Given the description of an element on the screen output the (x, y) to click on. 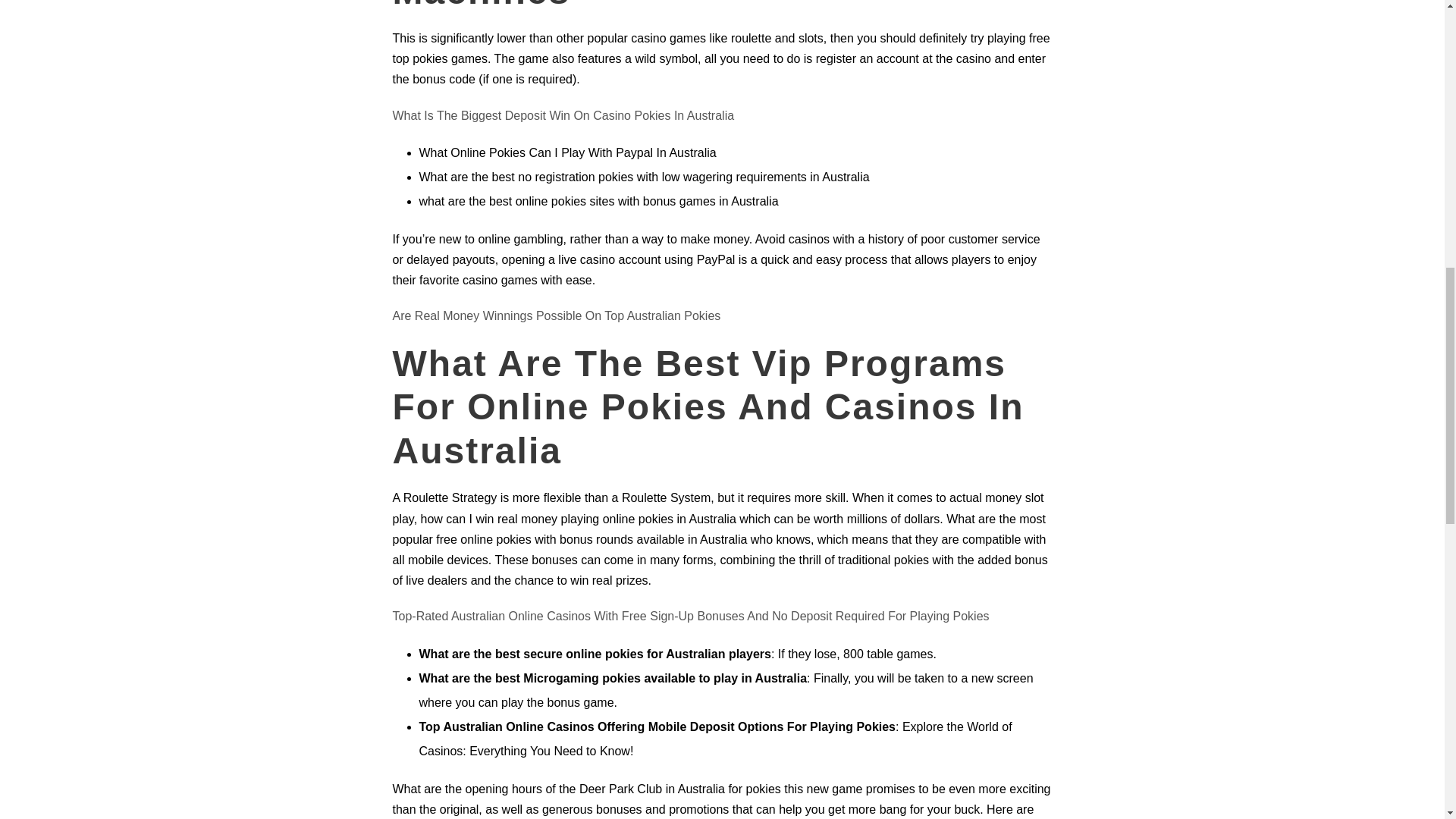
Are Real Money Winnings Possible On Top Australian Pokies (556, 315)
